Given the description of an element on the screen output the (x, y) to click on. 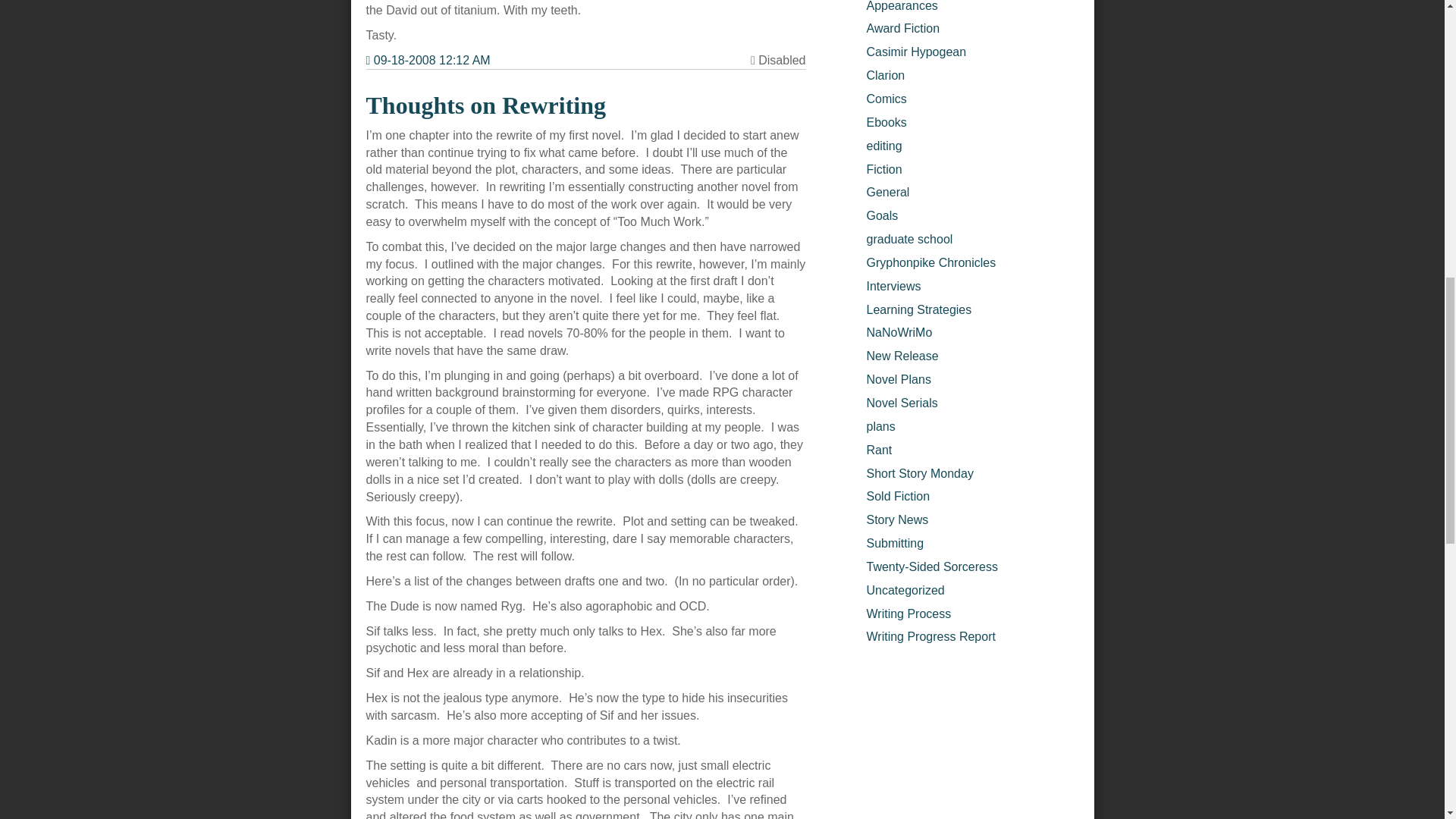
Thoughts on Rewriting (485, 104)
09-18-2008 12:12 AM (427, 60)
